Given the description of an element on the screen output the (x, y) to click on. 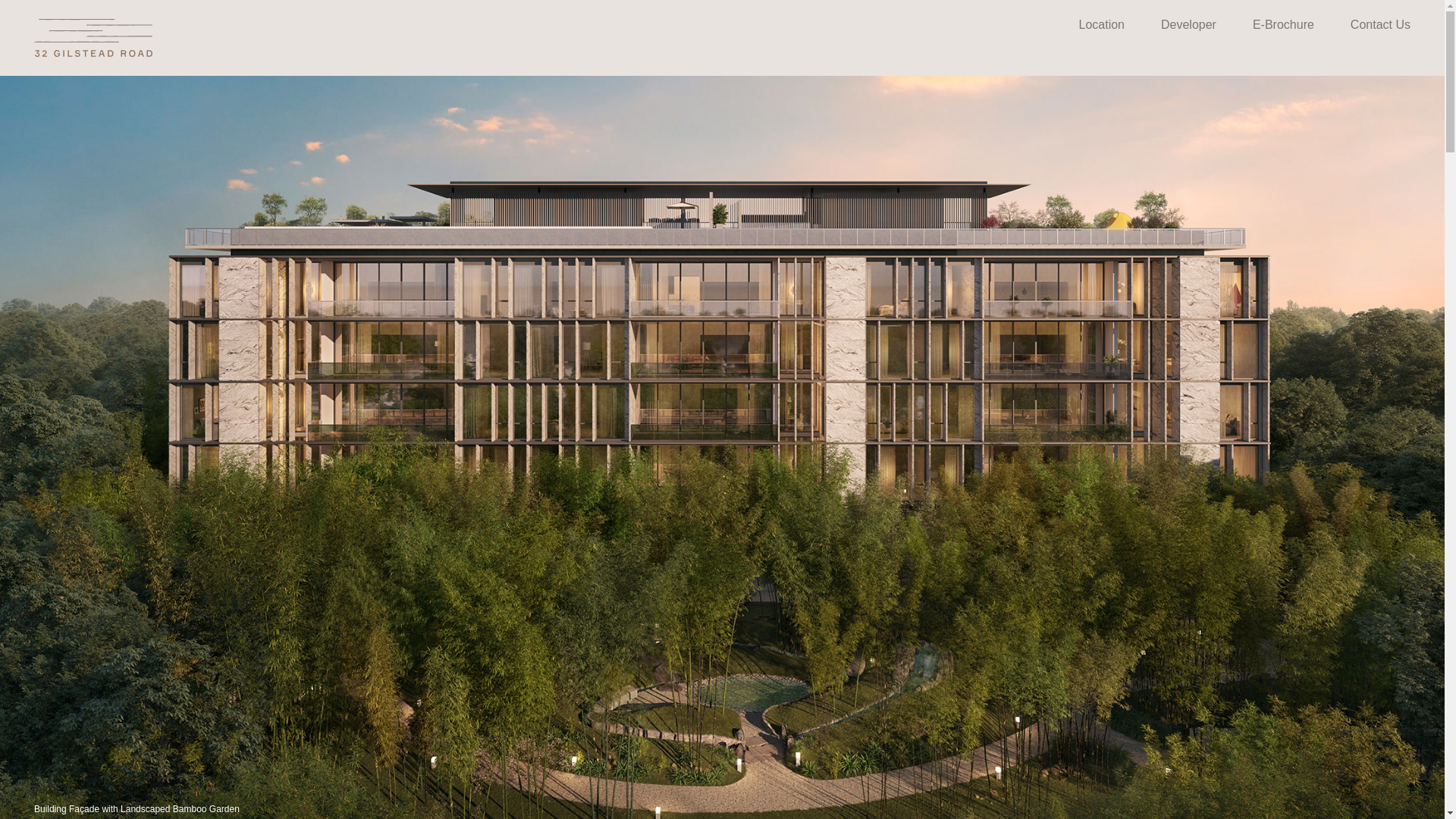
Developer (1187, 24)
E-Brochure (1283, 24)
Location (1101, 24)
Contact Us (1380, 24)
